Given the description of an element on the screen output the (x, y) to click on. 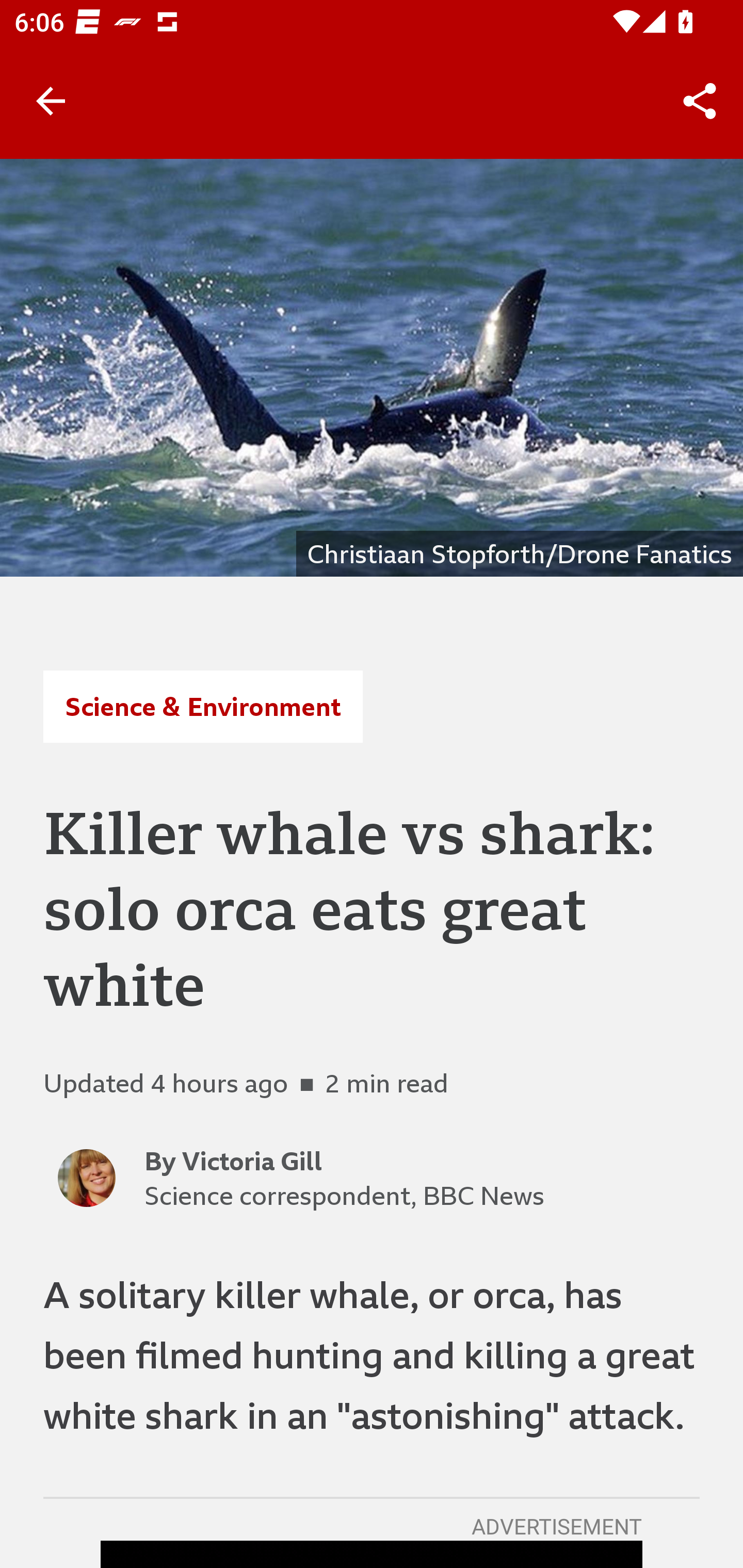
Back (50, 101)
Share (699, 101)
Science & Environment (202, 706)
